Given the description of an element on the screen output the (x, y) to click on. 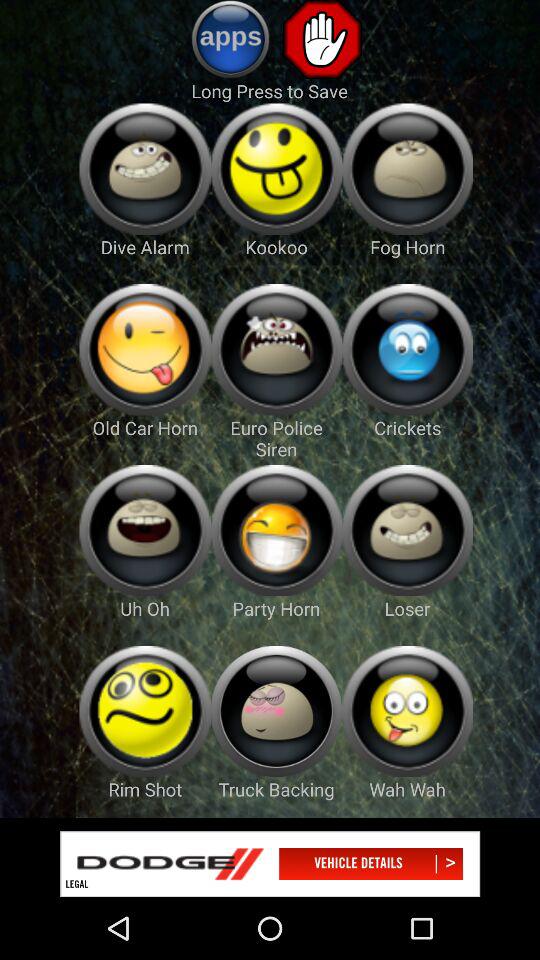
select loser ringtone (407, 530)
